Given the description of an element on the screen output the (x, y) to click on. 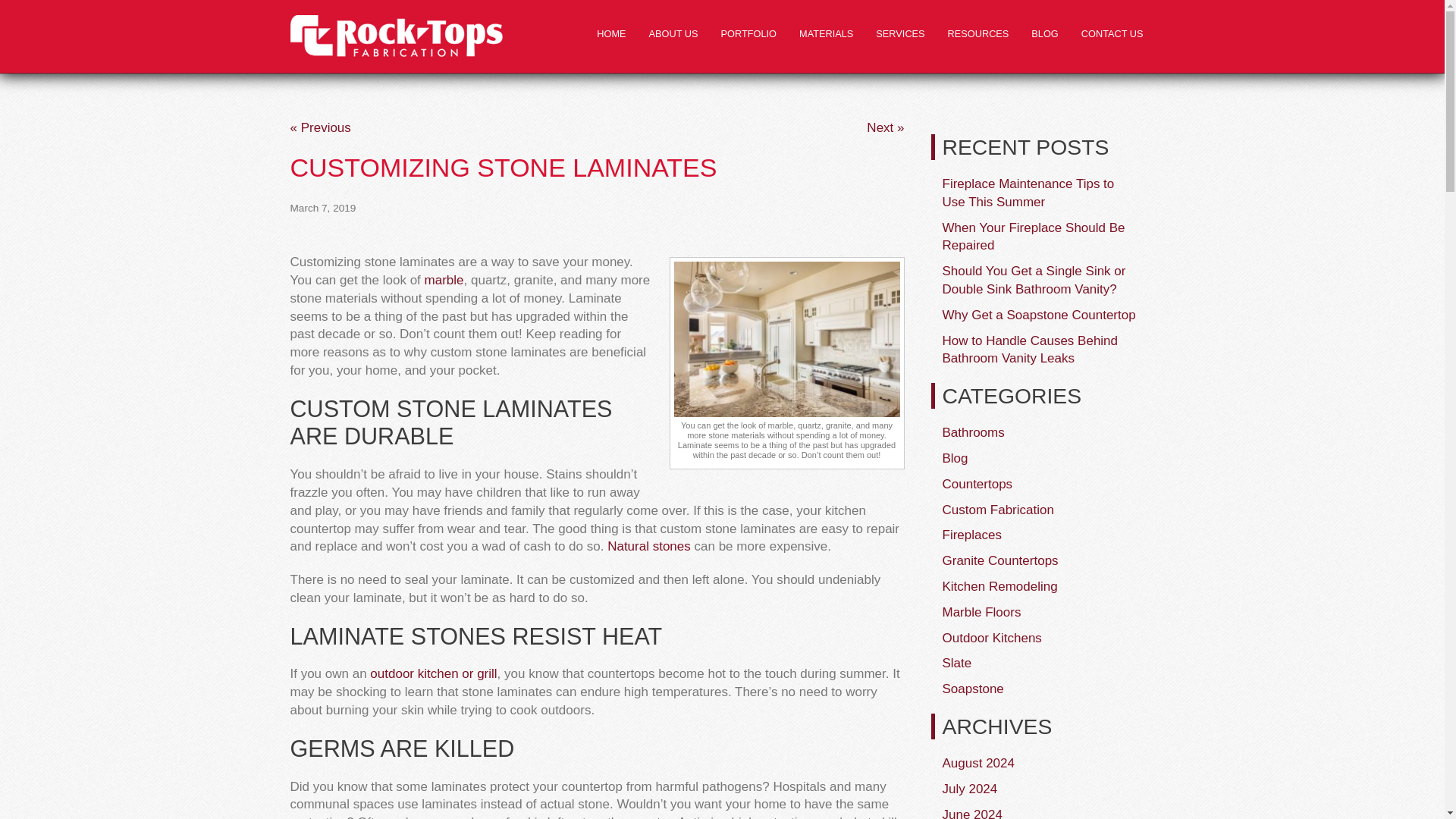
HOME (611, 34)
RESOURCES (978, 34)
Natural stones (648, 545)
CONTACT US (1112, 34)
Rock Tops Fabrication (395, 36)
ABOUT US (673, 34)
SERVICES (900, 34)
BLOG (1044, 34)
marble (444, 279)
outdoor kitchen or grill (432, 673)
